Given the description of an element on the screen output the (x, y) to click on. 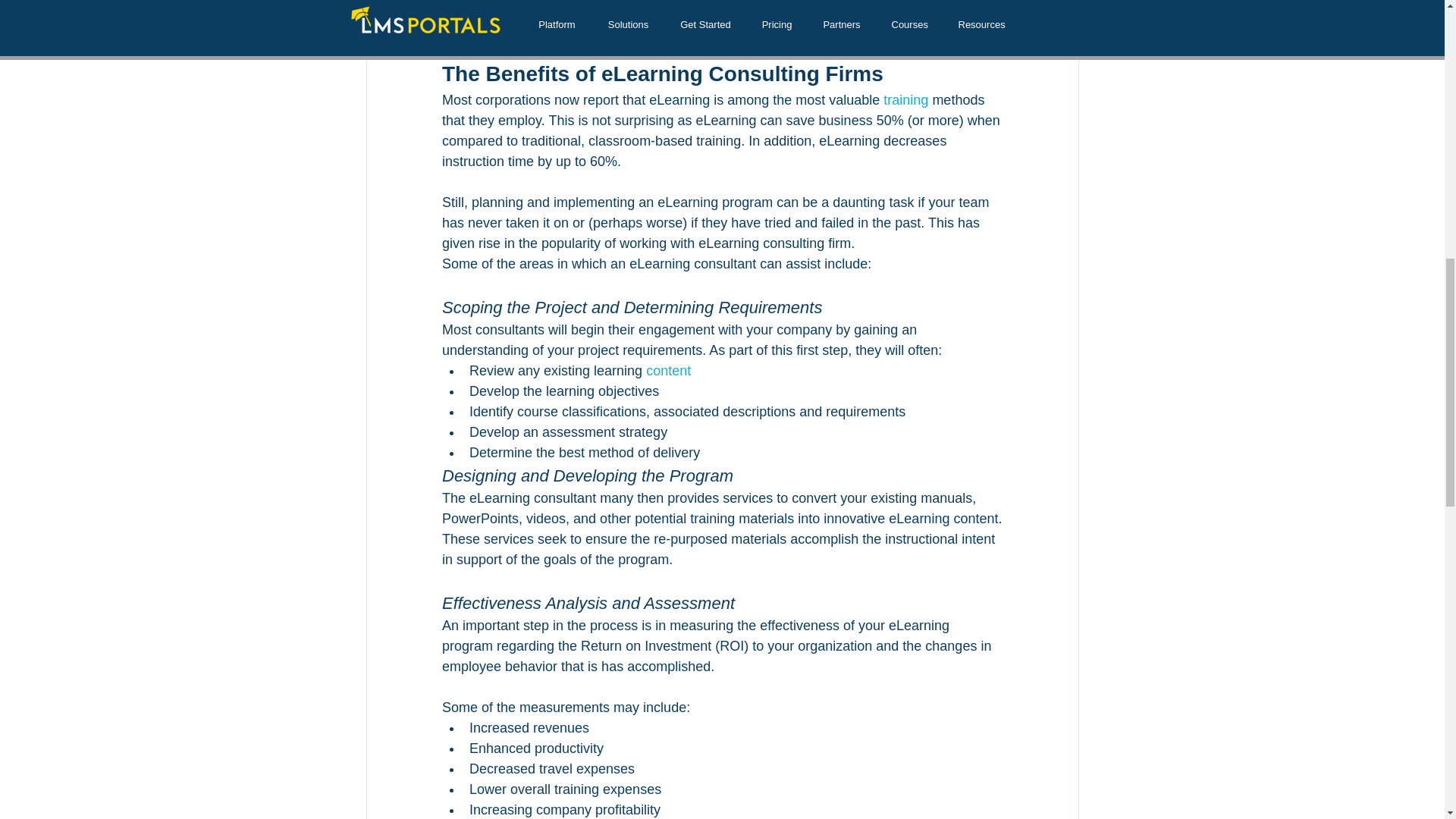
training  (907, 99)
content (668, 370)
